Given the description of an element on the screen output the (x, y) to click on. 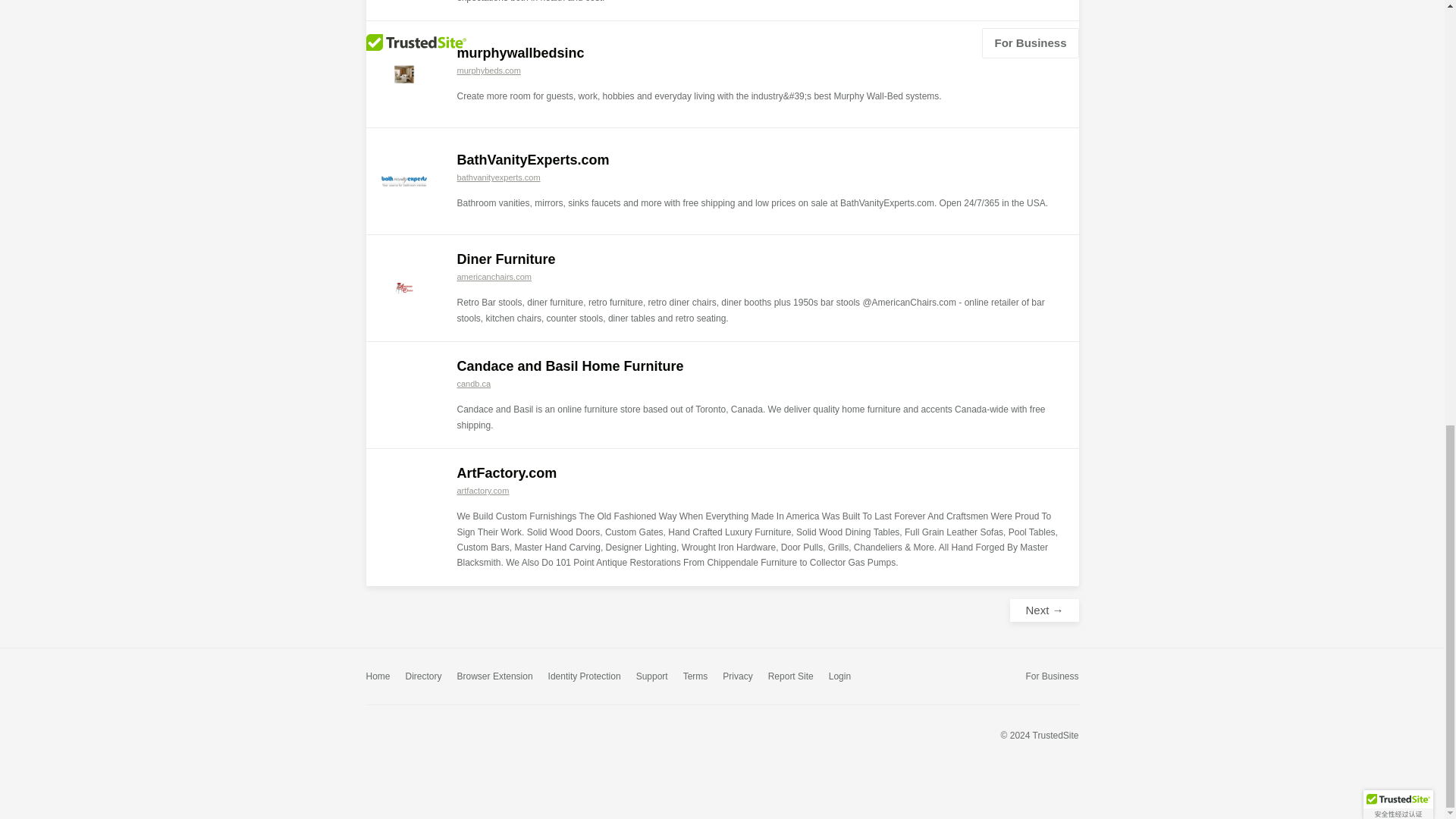
Support (652, 676)
Home (377, 676)
candb.ca (473, 383)
Directory (424, 676)
Browser Extension (494, 676)
Diner Furniture (505, 258)
bathvanityexperts.com (498, 176)
murphywallbedsinc (520, 52)
Candace and Basil Home Furniture (569, 365)
Identity Protection (584, 676)
murphybeds.com (488, 70)
TrustedSite Certified (399, 734)
BathVanityExperts.com (532, 159)
americanchairs.com (494, 276)
artfactory.com (482, 490)
